Given the description of an element on the screen output the (x, y) to click on. 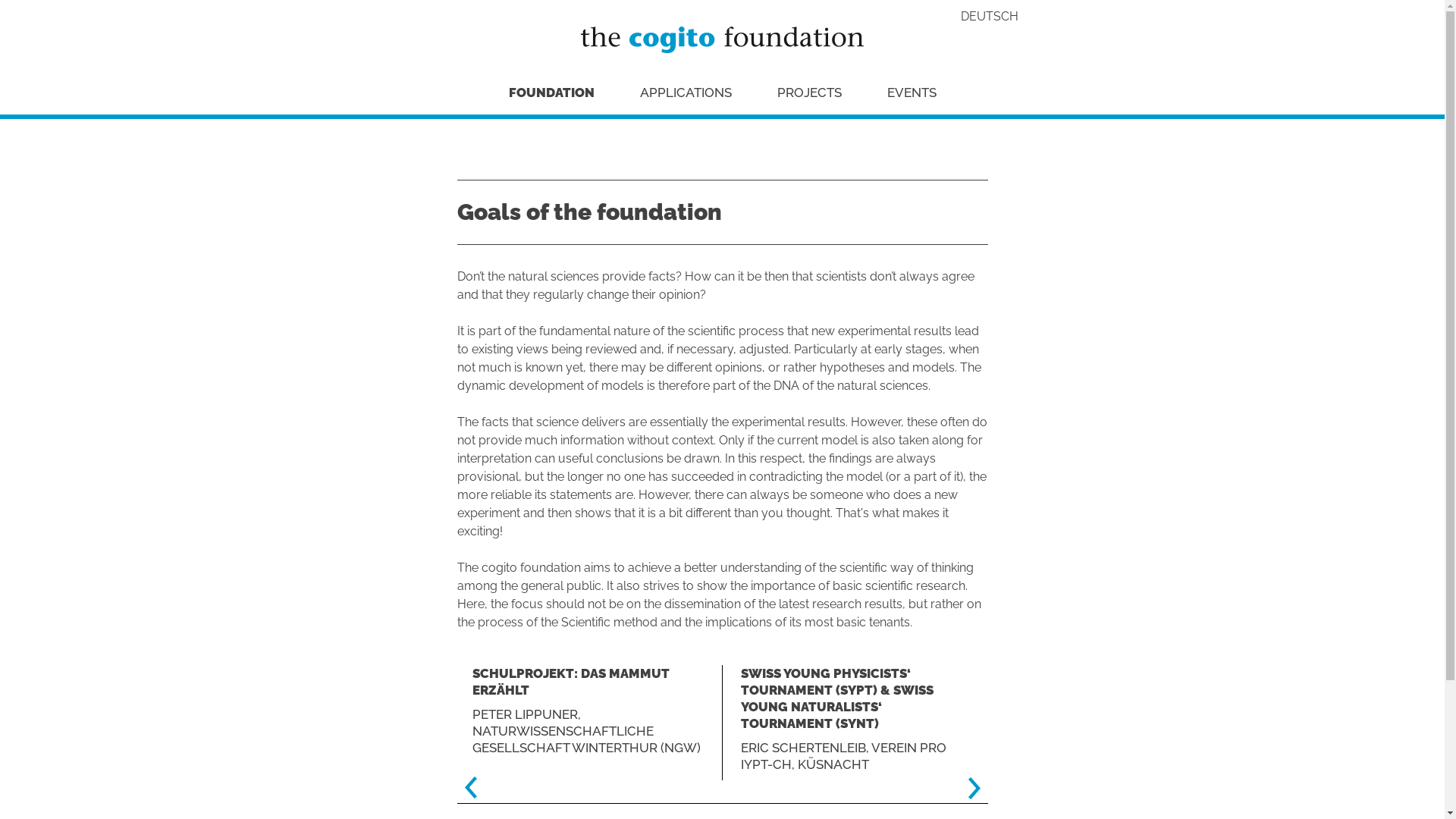
EVENTS Element type: text (911, 92)
FOUNDATION Element type: text (550, 92)
PROJECTS Element type: text (808, 92)
APPLICATIONS Element type: text (685, 92)
DEUTSCH Element type: text (988, 16)
